Given the description of an element on the screen output the (x, y) to click on. 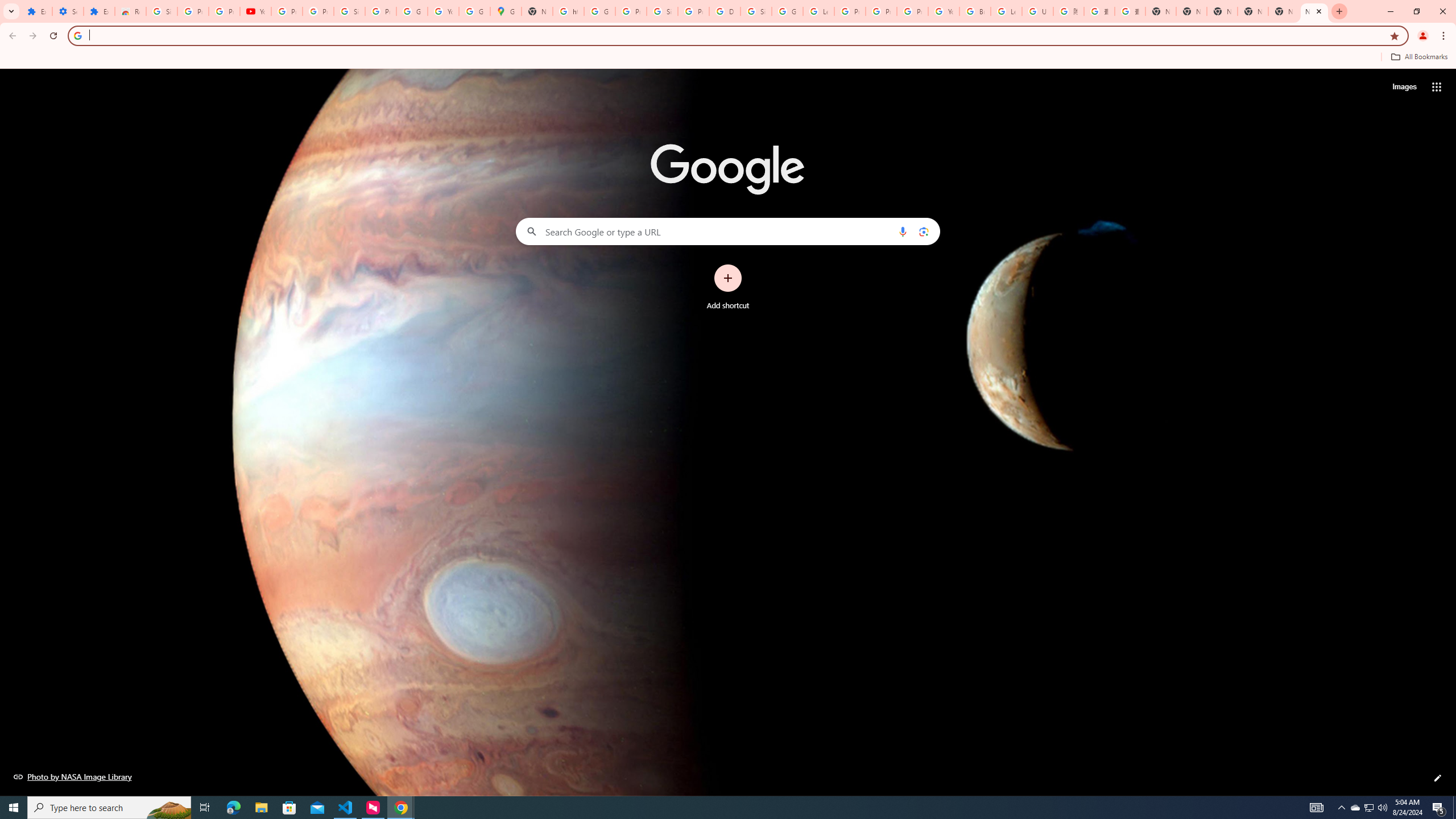
Sign in - Google Accounts (756, 11)
Sign in - Google Accounts (161, 11)
